Given the description of an element on the screen output the (x, y) to click on. 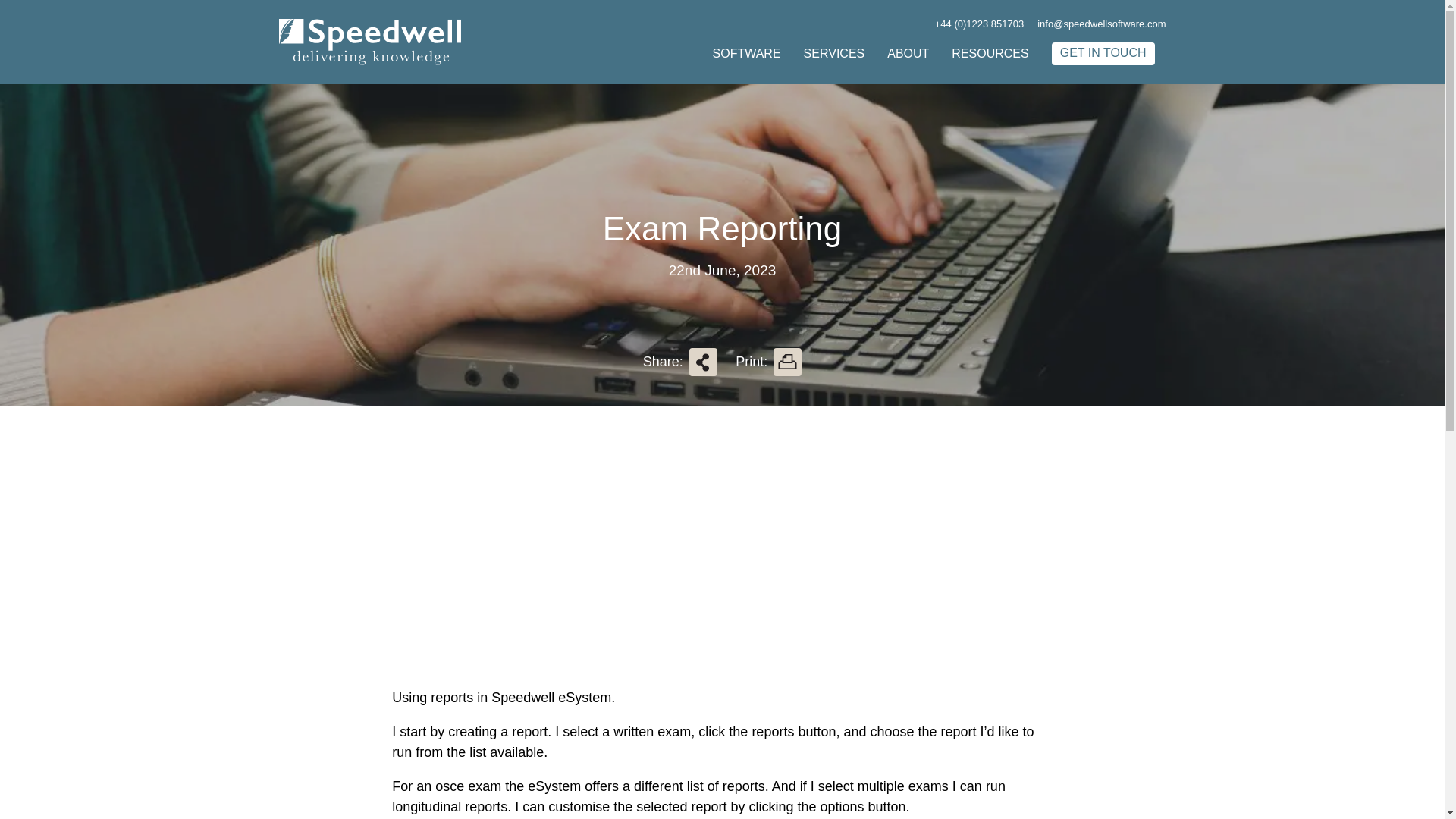
GET IN TOUCH (1102, 53)
ABOUT (907, 52)
RESOURCES (989, 52)
SERVICES (833, 52)
SOFTWARE (746, 52)
Using Reports (581, 561)
